Given the description of an element on the screen output the (x, y) to click on. 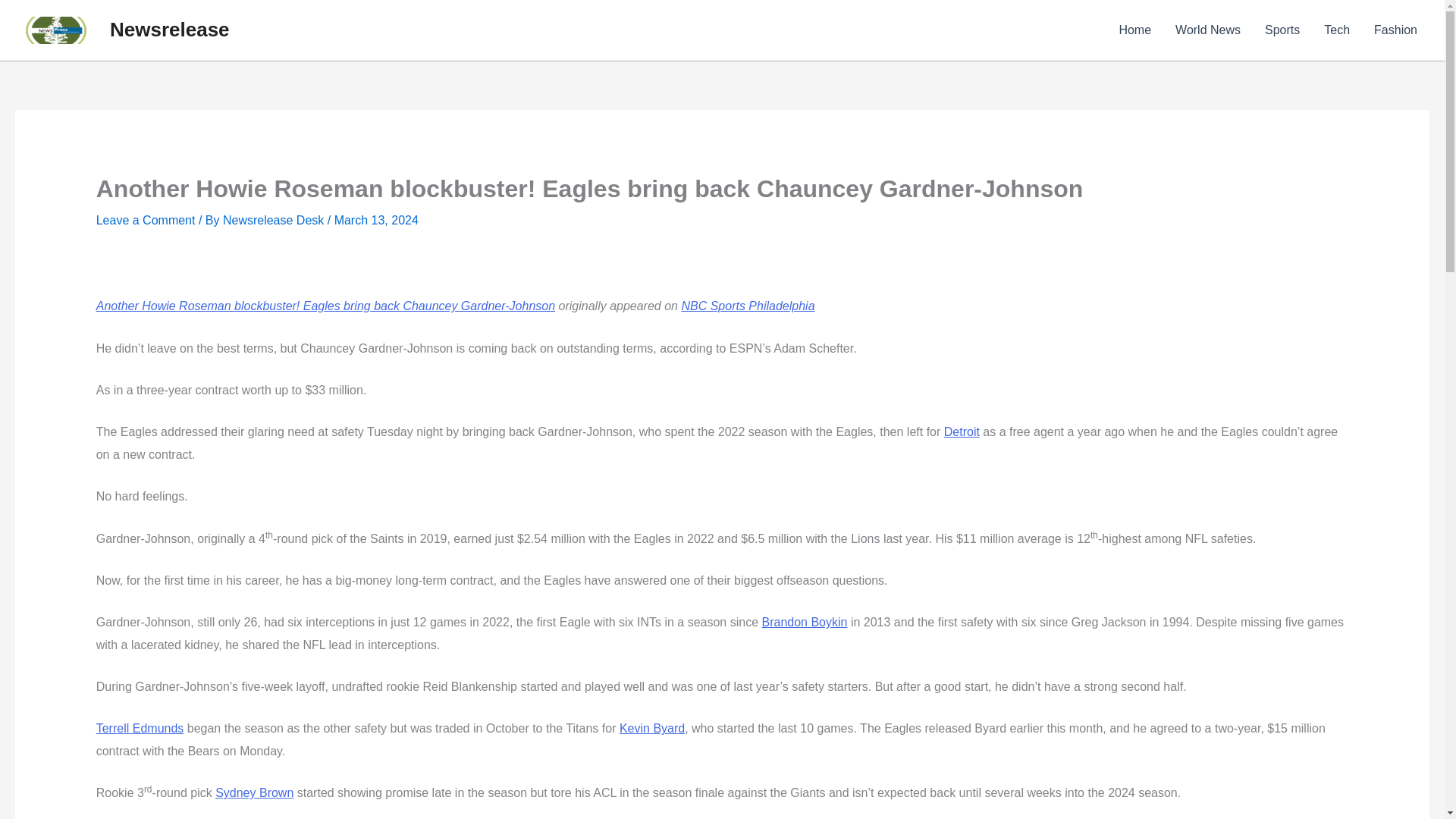
World News (1207, 30)
Leave a Comment (145, 219)
Sydney Brown (254, 792)
Detroit (961, 431)
Terrell Edmunds (140, 727)
Fashion (1395, 30)
Brandon Boykin (804, 621)
Newsrelease (170, 29)
Home (1134, 30)
Newsrelease Desk (274, 219)
Sports (1281, 30)
Kevin Byard (652, 727)
View all posts by Newsrelease Desk (274, 219)
NBC Sports Philadelphia (747, 305)
